Given the description of an element on the screen output the (x, y) to click on. 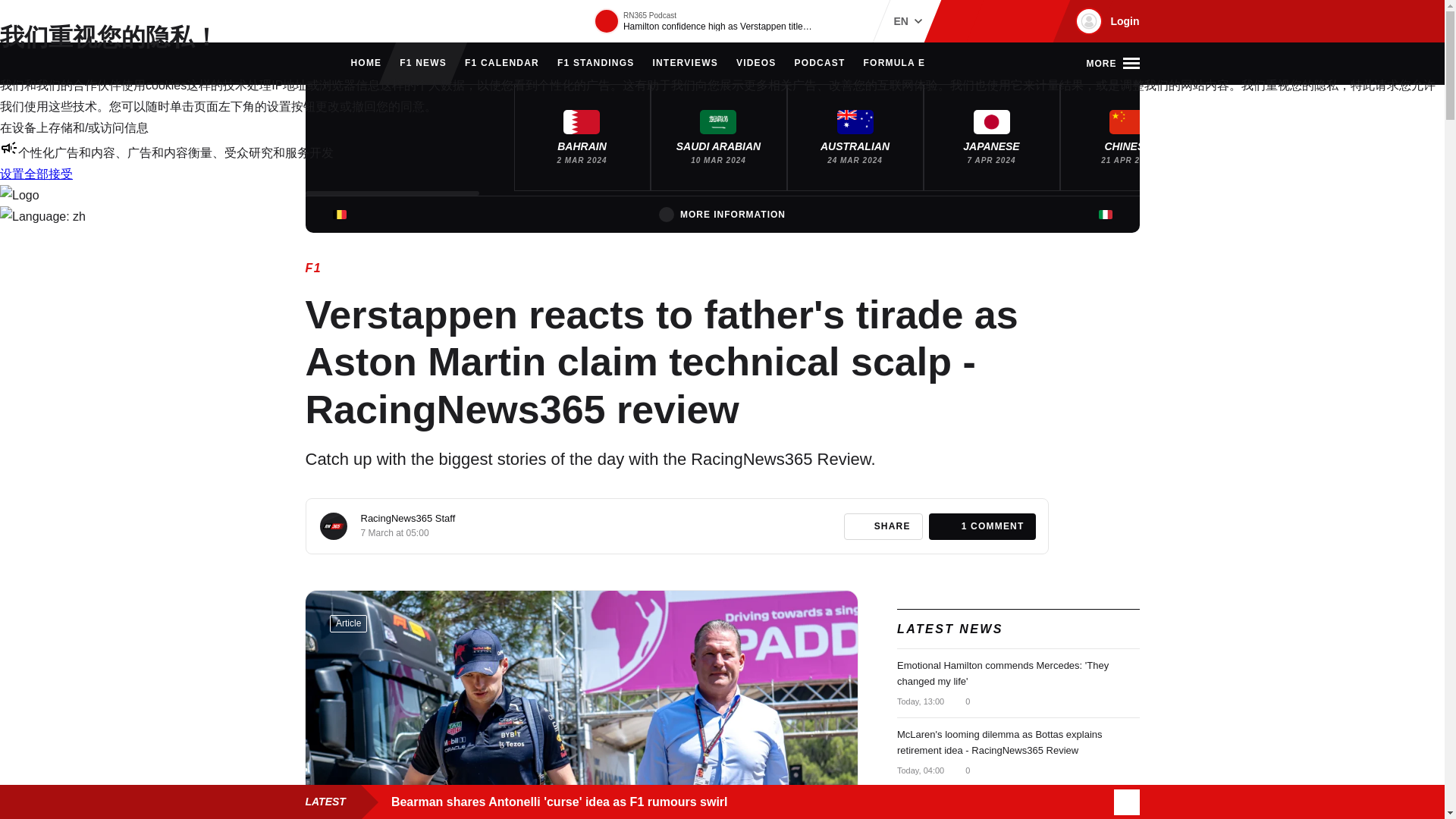
MORE INFORMATION (722, 214)
Thursday 7 March 2024 at 05:00 (395, 532)
RacingNews365 (350, 21)
INTERVIEWS (684, 63)
VIDEOS (756, 63)
F1 NEWS (422, 63)
RacingNews365 on X (1010, 21)
FORMULA E (894, 63)
F1 CALENDAR (501, 63)
RacingNews365 on Instagram (962, 21)
